Given the description of an element on the screen output the (x, y) to click on. 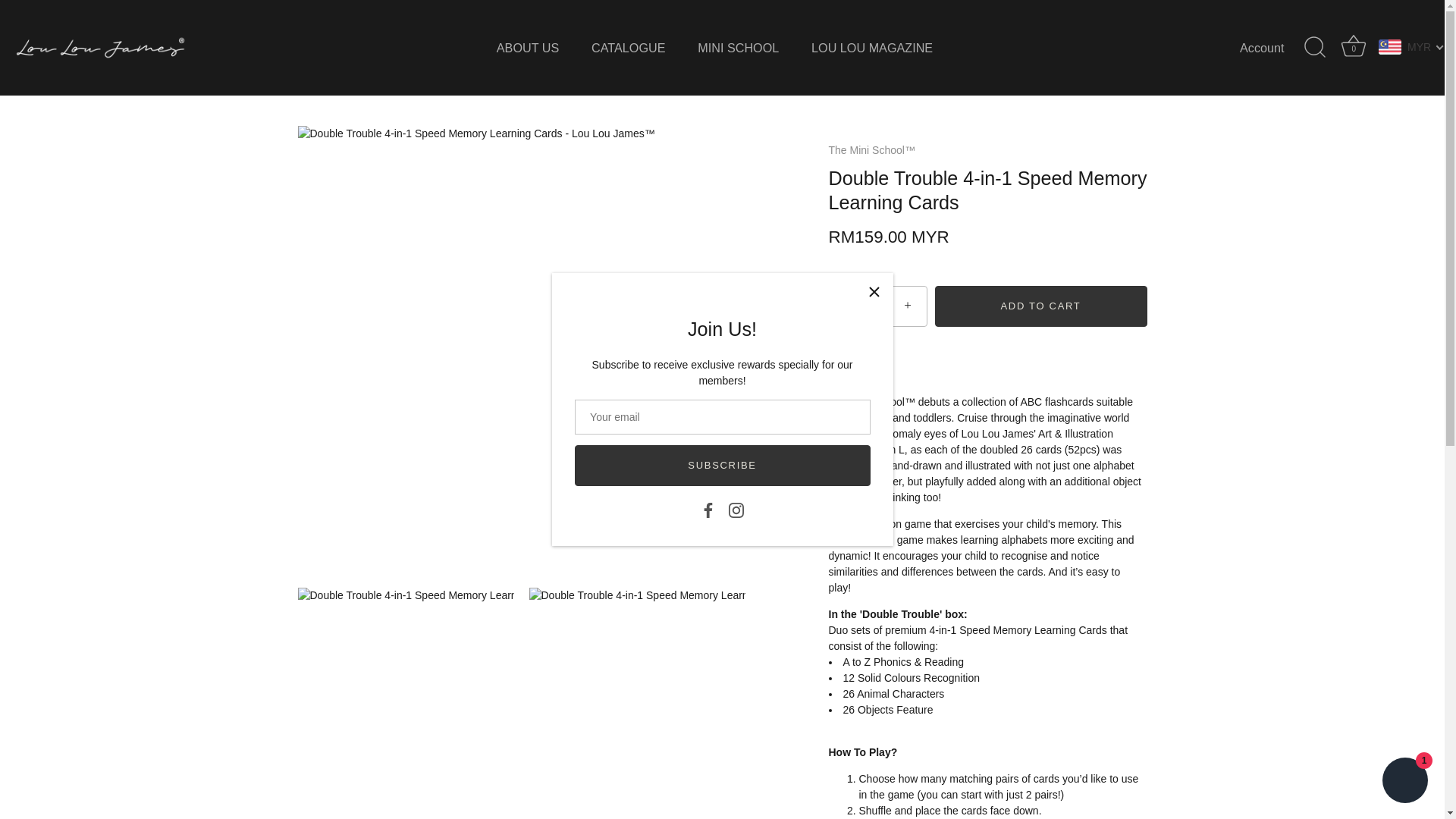
CATALOGUE (627, 48)
ABOUT US (1353, 47)
Instagram (527, 48)
LOU LOU MAGAZINE (736, 509)
Basket (871, 48)
Account (1353, 45)
Shopify online store chat (1275, 48)
MINI SCHOOL (1404, 781)
1 (737, 48)
